Given the description of an element on the screen output the (x, y) to click on. 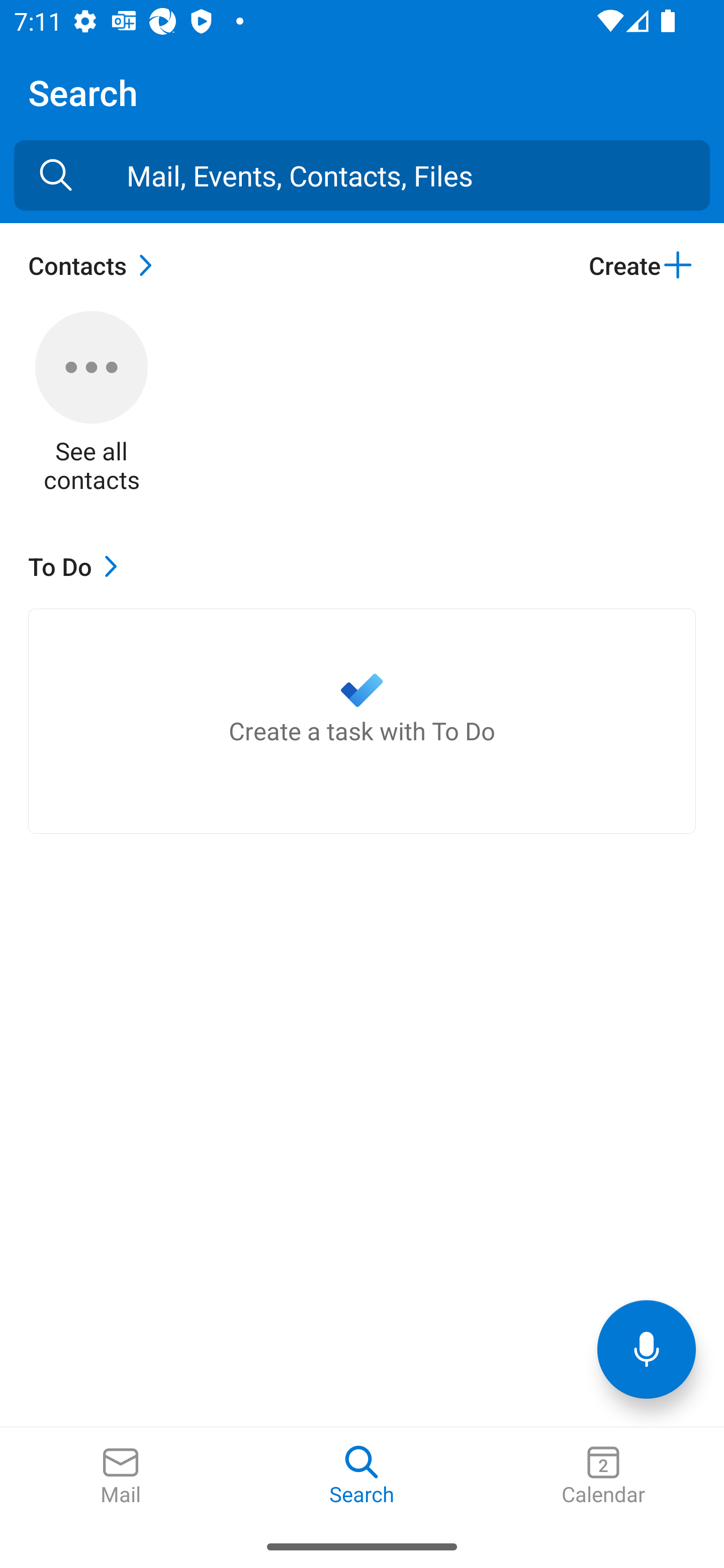
Search Mail, Events, Contacts, Files (55, 174)
Contacts (95, 264)
Create Create contact (641, 264)
See all contacts (91, 402)
To Do (77, 565)
Create a task with To Do (361, 721)
Voice Assistant (646, 1348)
Mail (120, 1475)
Calendar (603, 1475)
